Given the description of an element on the screen output the (x, y) to click on. 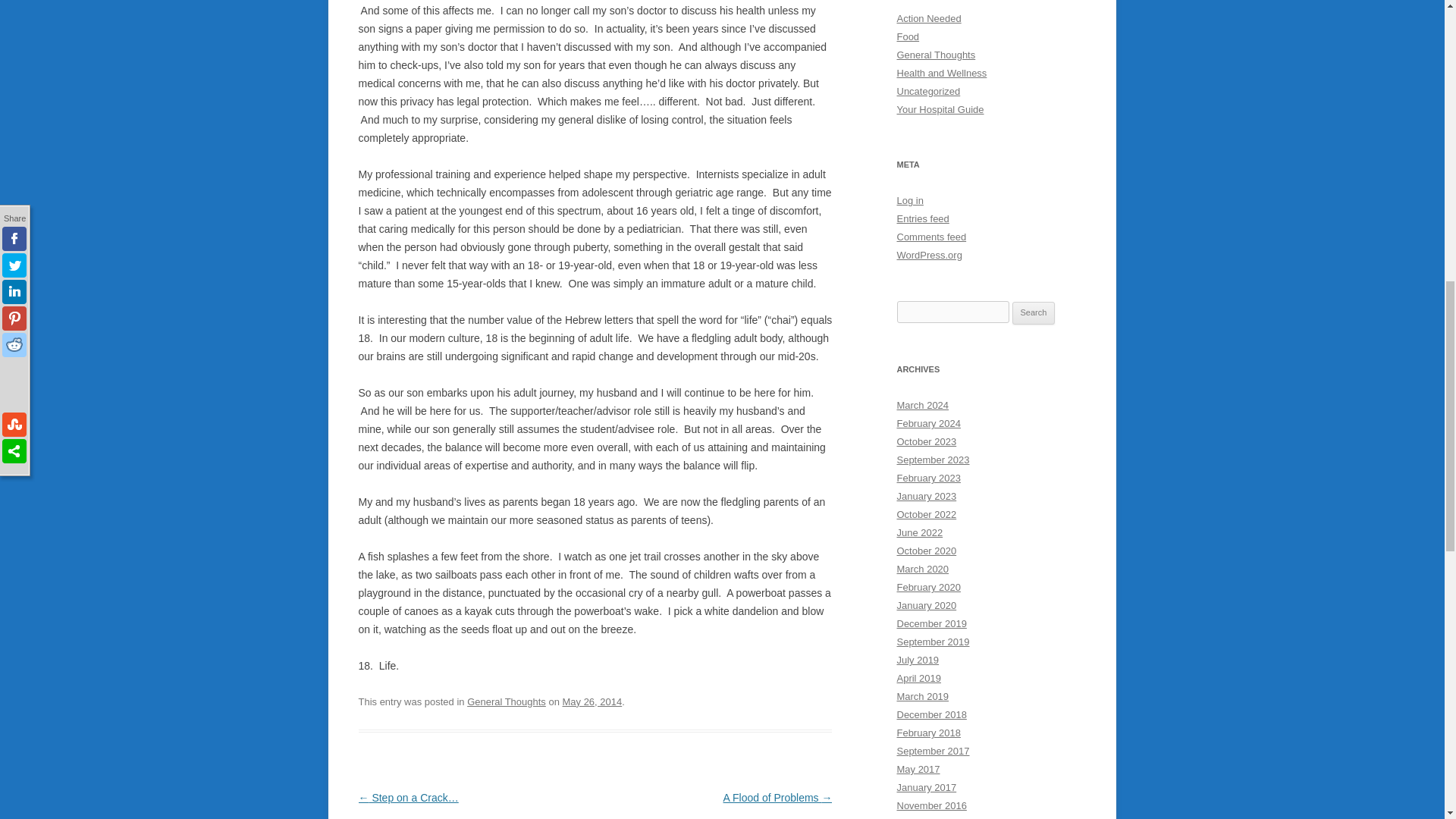
Search (1033, 313)
WordPress.org (928, 255)
Search (1033, 313)
8:36 am (592, 701)
Action Needed (928, 18)
Your Hospital Guide (940, 109)
Uncategorized (927, 91)
Entries feed (922, 218)
General Thoughts (935, 54)
October 2023 (926, 441)
Log in (909, 200)
May 26, 2014 (592, 701)
Comments feed (931, 236)
March 2024 (922, 405)
Health and Wellness (941, 72)
